Given the description of an element on the screen output the (x, y) to click on. 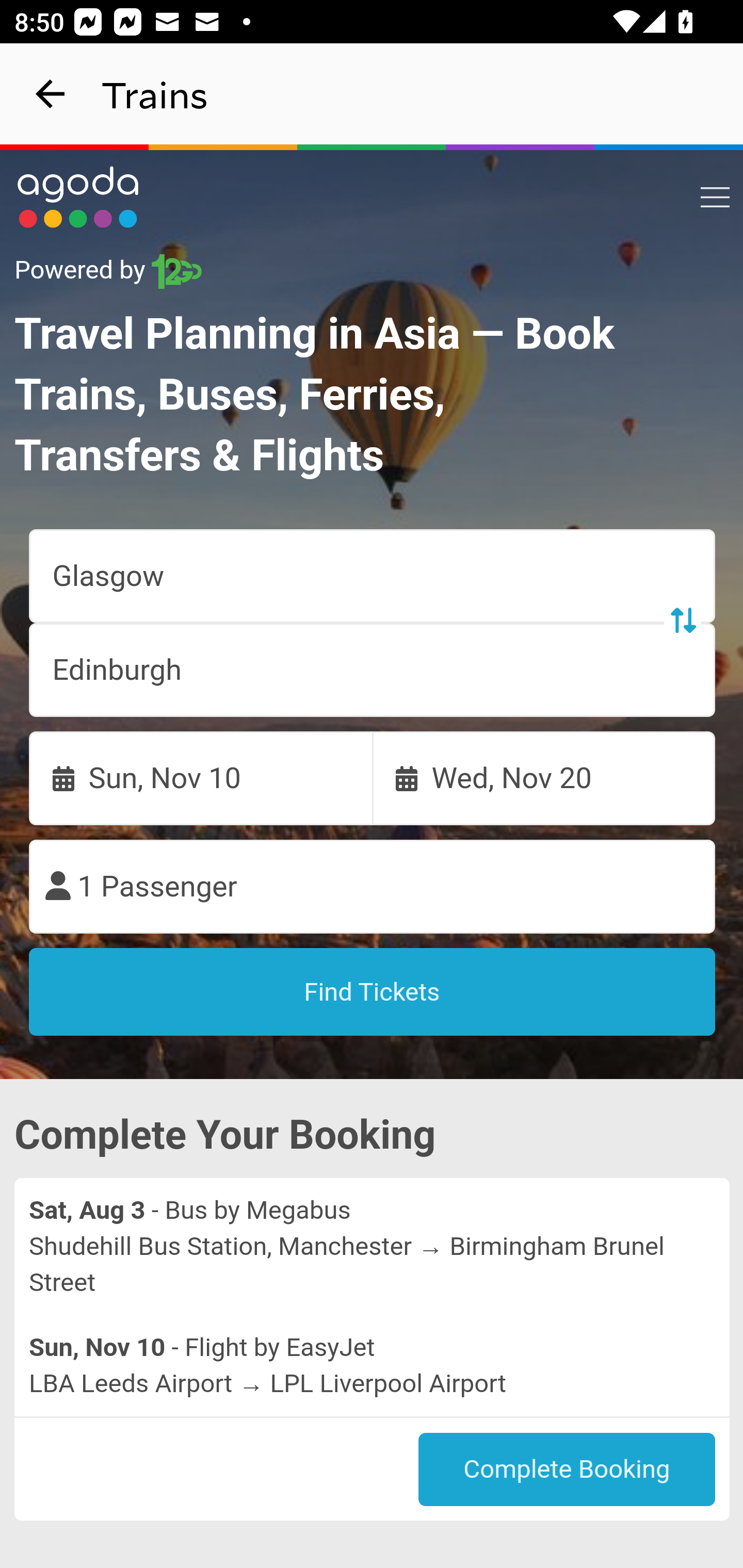
navigation_button (50, 93)
Link to main page 5418 (78, 197)
Glasgow Swap trip points (372, 576)
Swap trip points (682, 619)
Edinburgh (372, 670)
Sun, Nov 10 (200, 778)
Wed, Nov 20 (544, 778)
 1 Passenger (372, 887)
Find Tickets (372, 992)
Complete Booking (566, 1469)
